Given the description of an element on the screen output the (x, y) to click on. 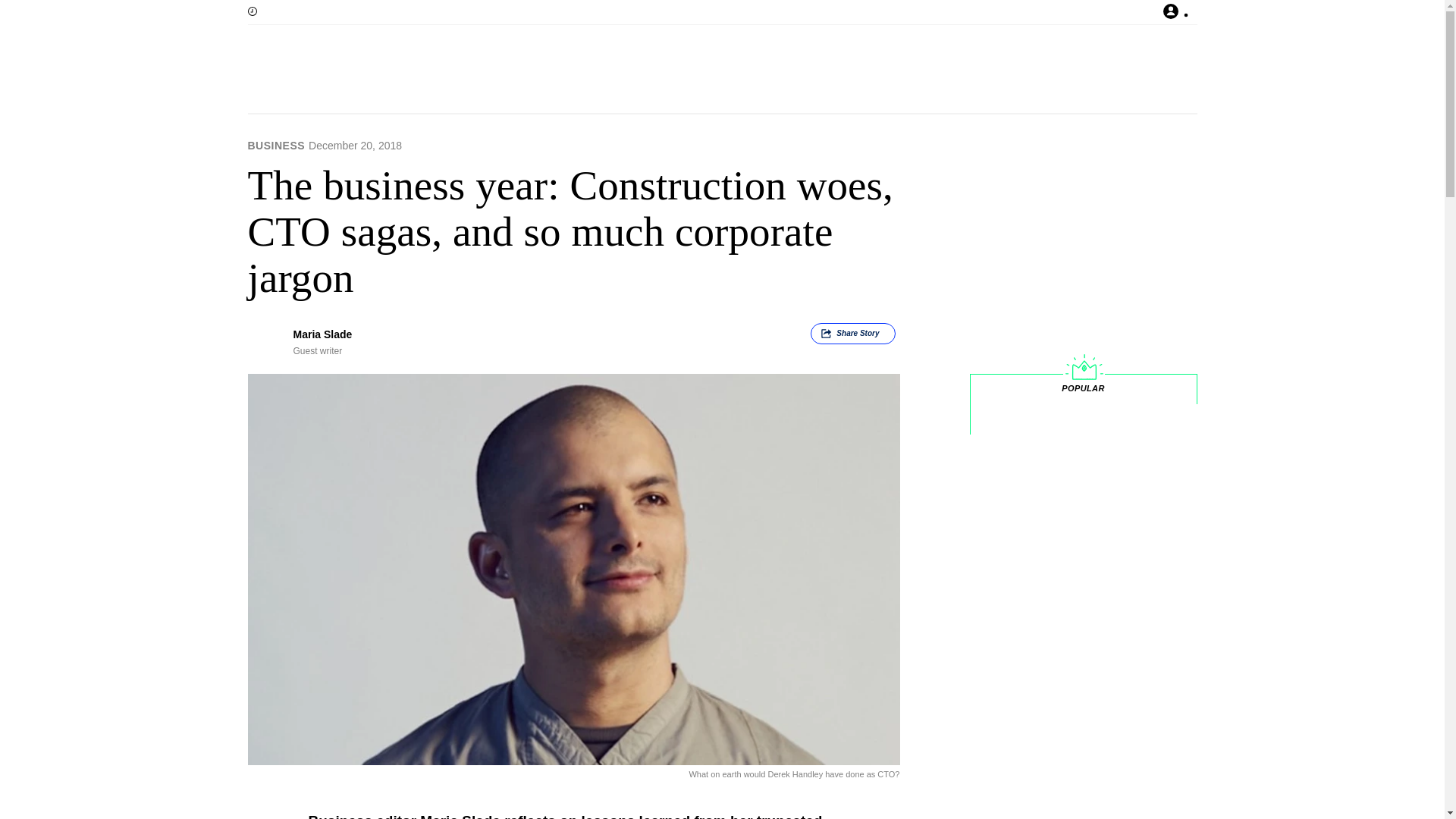
The Spinoff (673, 72)
BUSINESS (275, 145)
Maria Slade (322, 334)
view all posts by Maria Slade (322, 334)
